Given the description of an element on the screen output the (x, y) to click on. 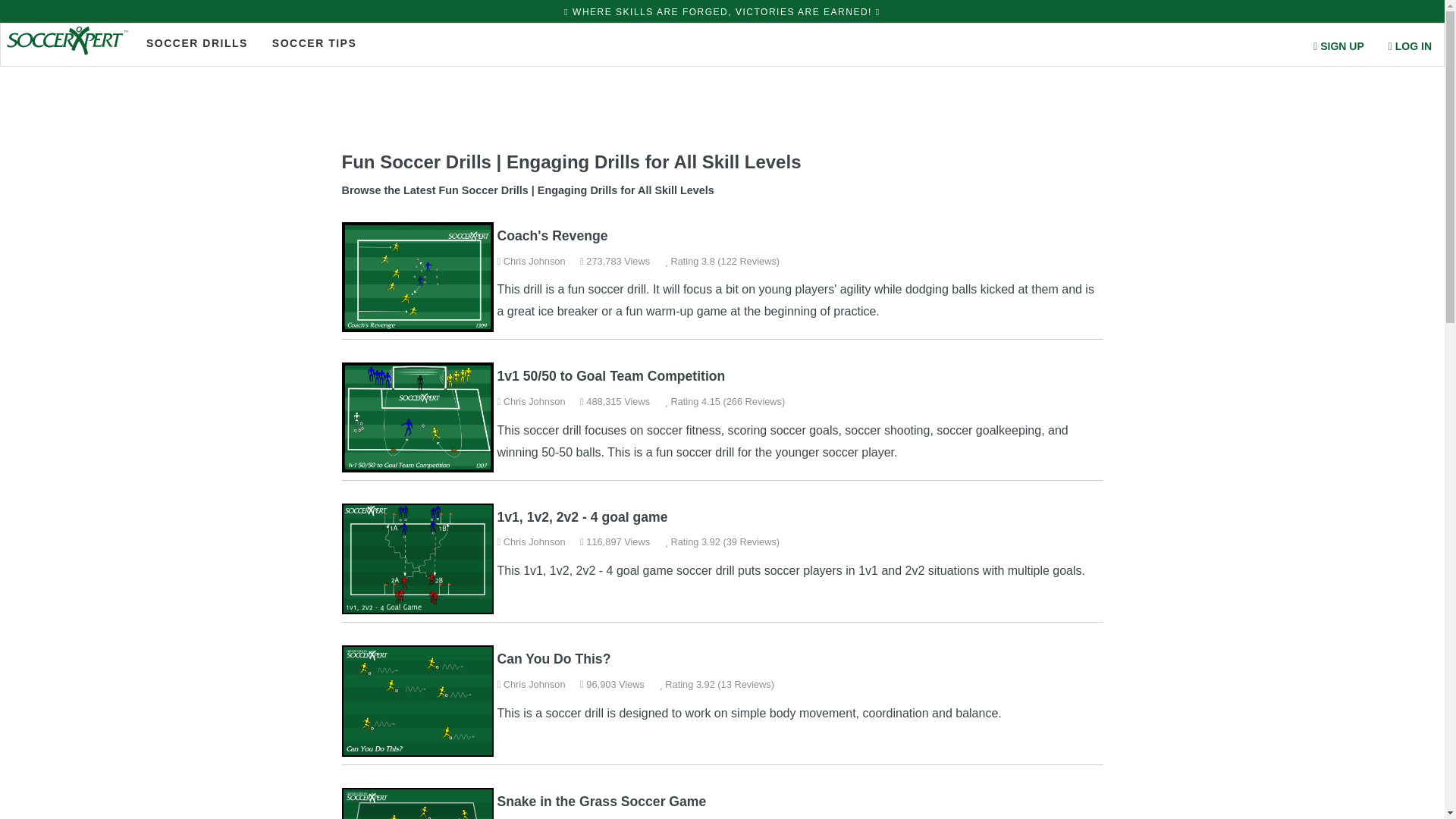
SOCCER DRILLS (196, 41)
WHERE SKILLS ARE FORGED, VICTORIES ARE EARNED! (722, 15)
